Given the description of an element on the screen output the (x, y) to click on. 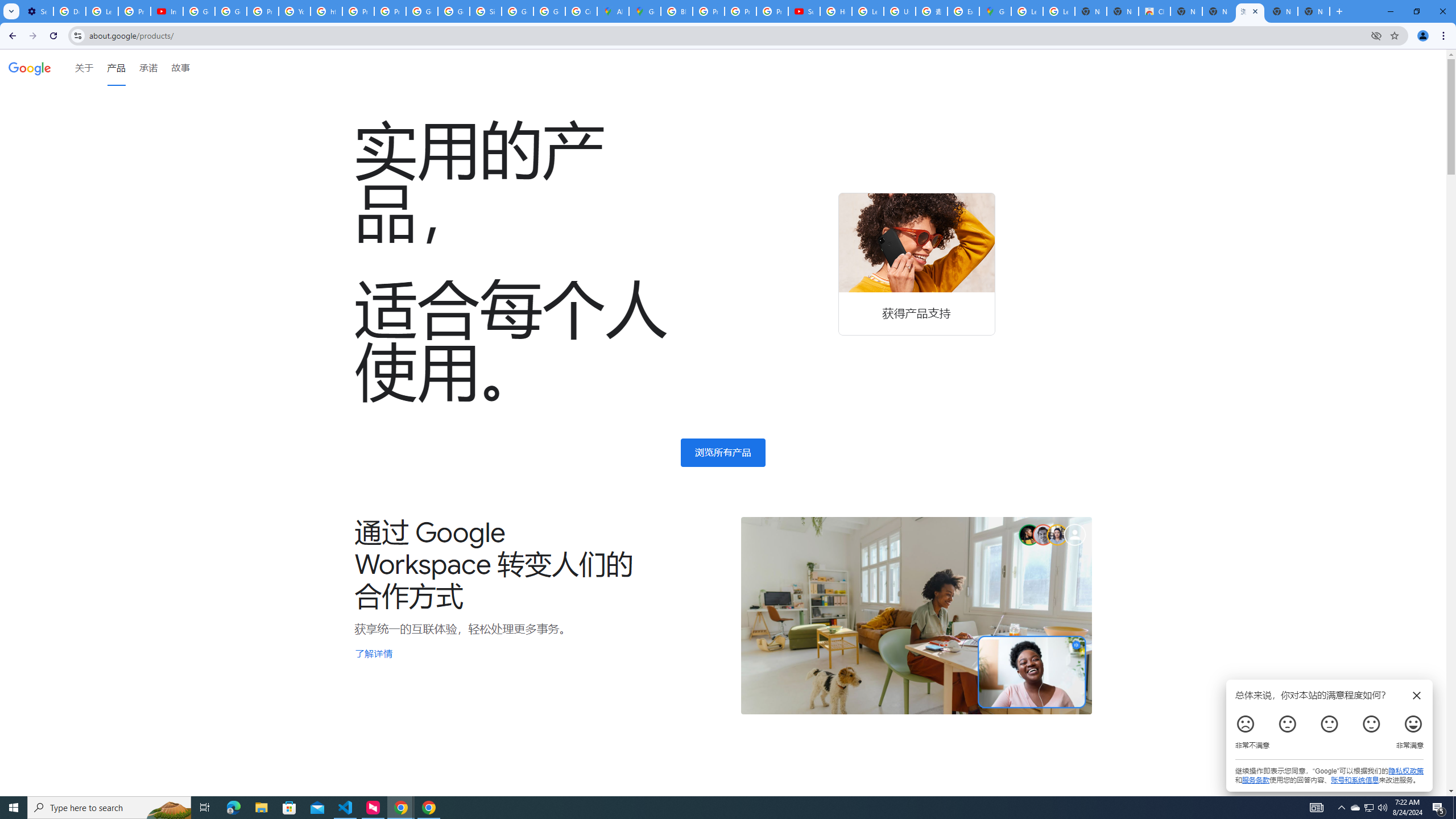
Privacy Help Center - Policies Help (708, 11)
How Chrome protects your passwords - Google Chrome Help (836, 11)
Create your Google Account (581, 11)
Google Maps (995, 11)
Google Maps (644, 11)
YouTube (294, 11)
Privacy Help Center - Policies Help (262, 11)
